Given the description of an element on the screen output the (x, y) to click on. 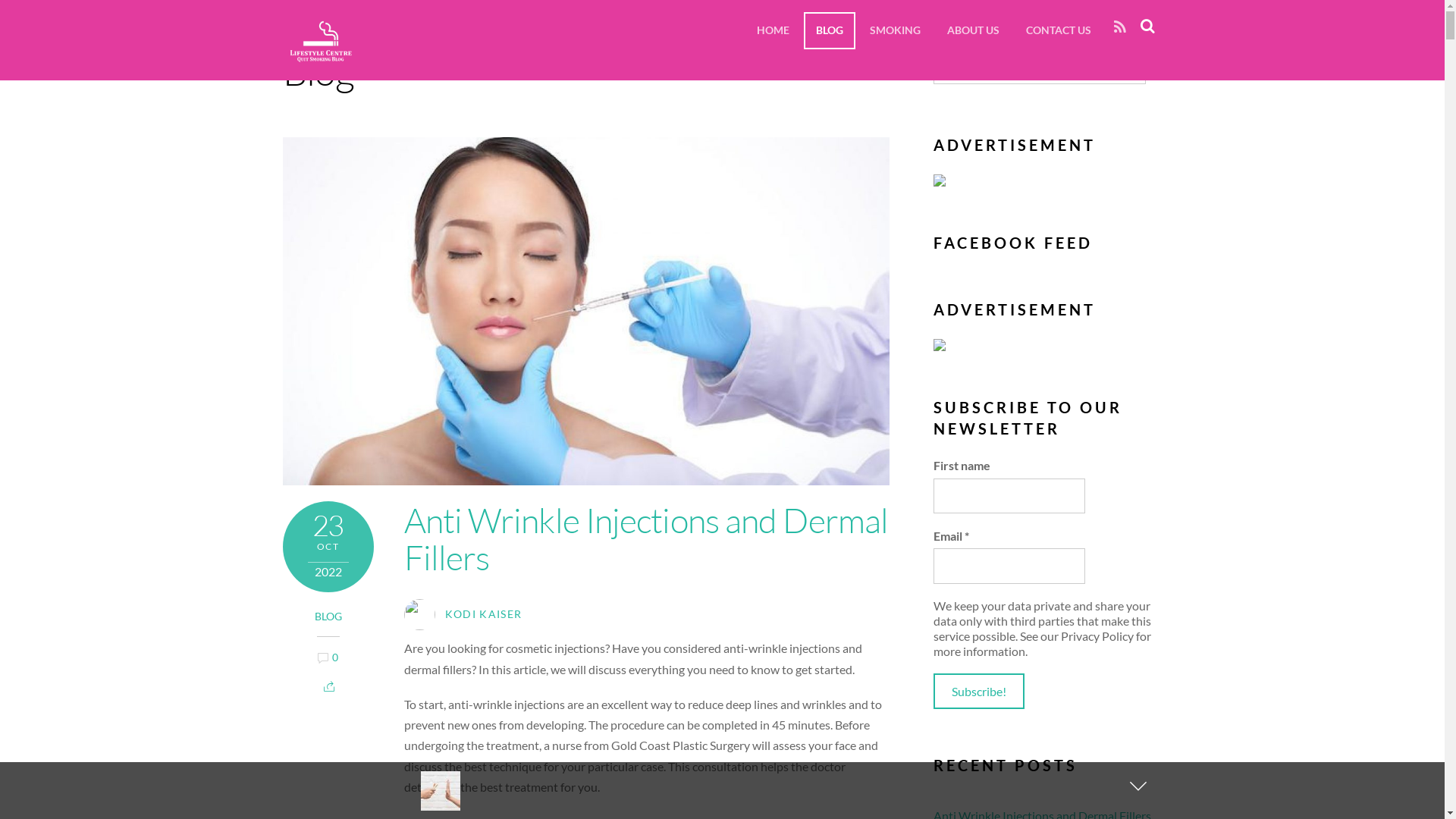
ABOUT US Element type: text (972, 30)
First name Element type: hover (1009, 496)
CONTACT US Element type: text (1057, 30)
Search Element type: hover (1145, 25)
BLOG Element type: text (829, 30)
Search Element type: hover (1039, 66)
Lifestyle Centre Element type: hover (319, 55)
HOME Element type: text (772, 30)
SMOKING Element type: text (893, 30)
Lifestyle Centre Element type: hover (319, 40)
Subscribe! Element type: text (978, 691)
KODI KAISER Element type: text (483, 614)
0 Element type: text (335, 656)
Anti Wrinkle Injections and Dermal Fillers Element type: text (646, 537)
BLOG Element type: text (327, 615)
Email Element type: hover (1009, 565)
